Given the description of an element on the screen output the (x, y) to click on. 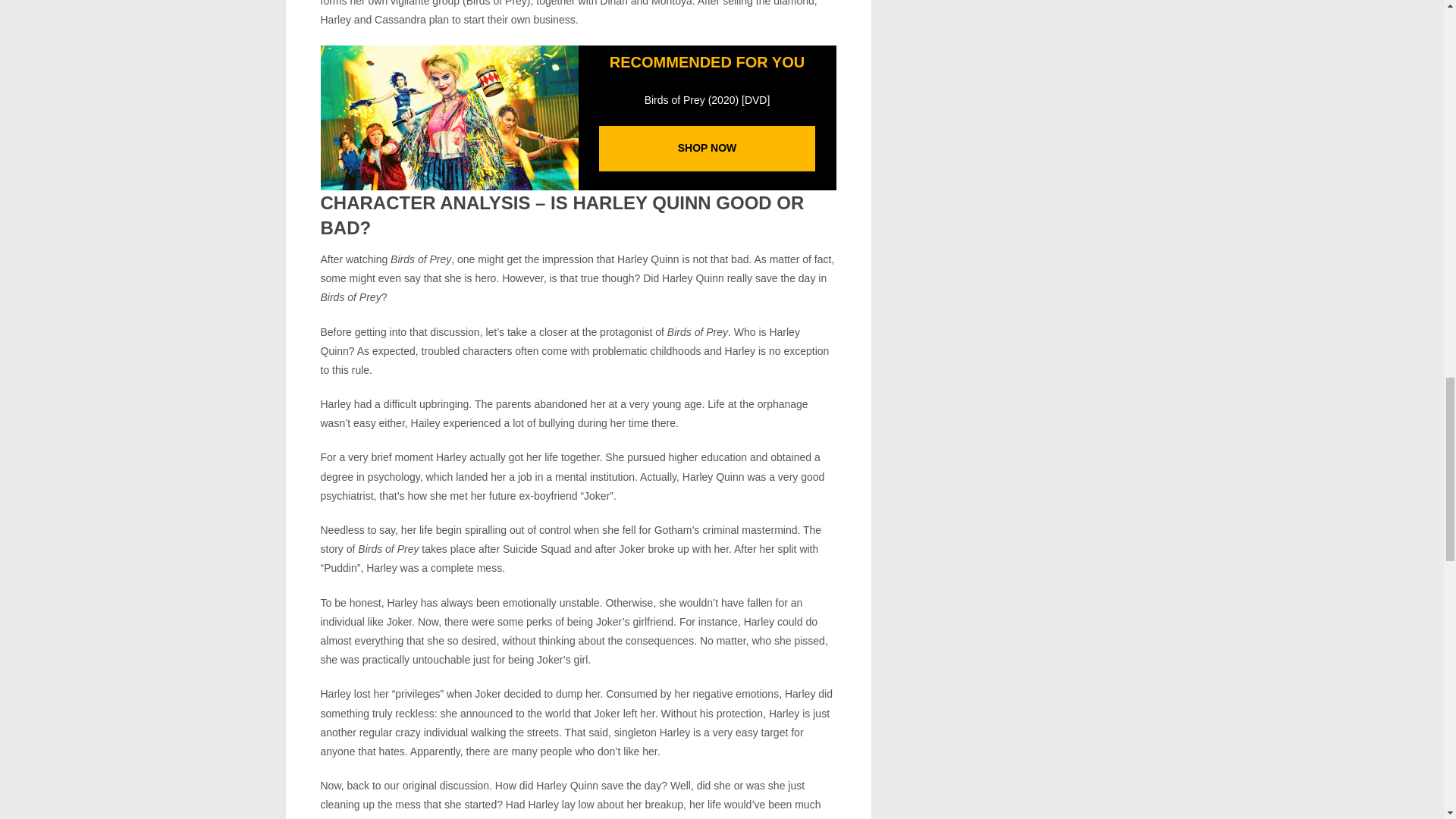
SHOP NOW (706, 147)
